Given the description of an element on the screen output the (x, y) to click on. 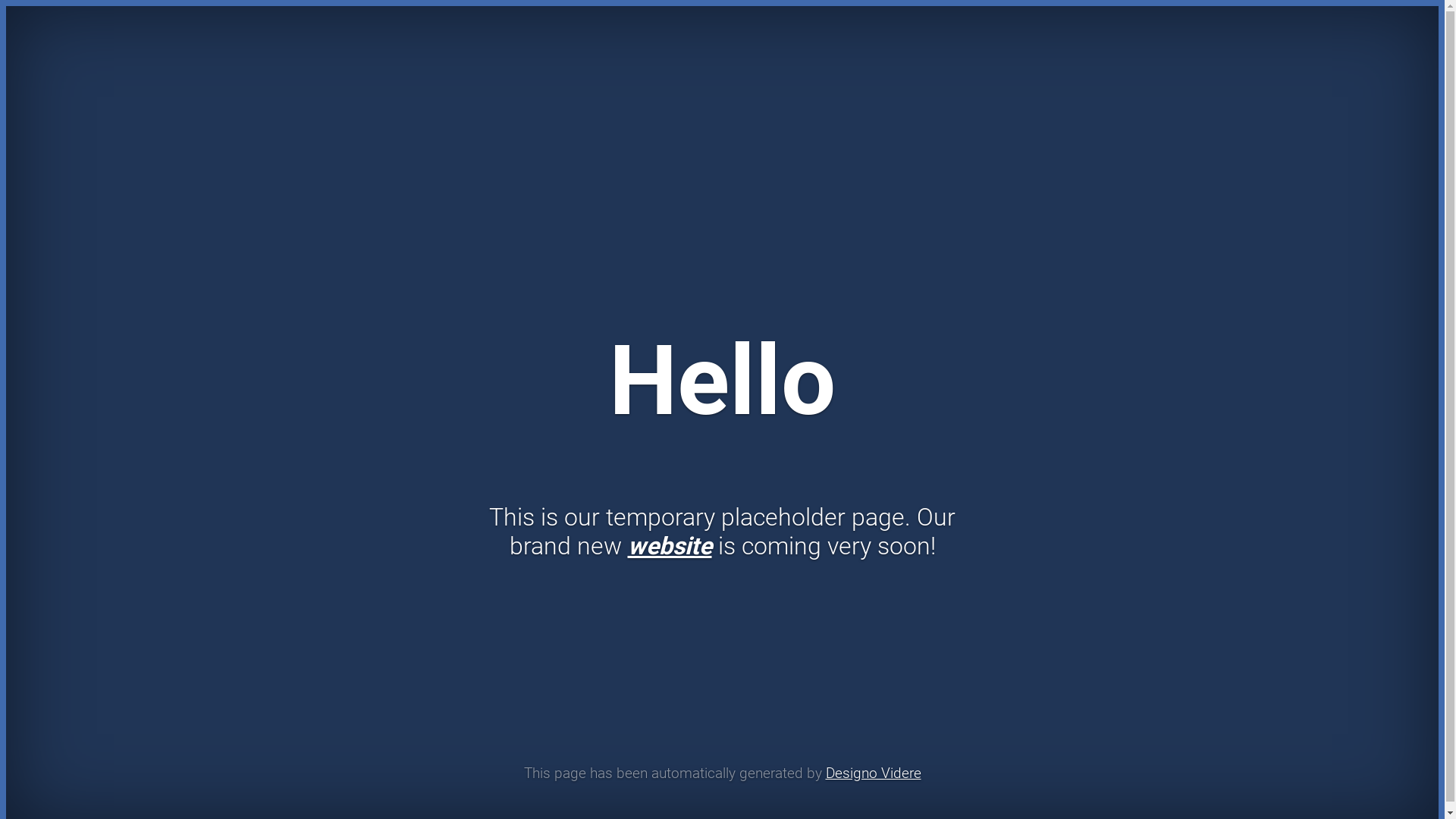
Designo Videre Element type: text (872, 772)
website Element type: text (669, 545)
